Given the description of an element on the screen output the (x, y) to click on. 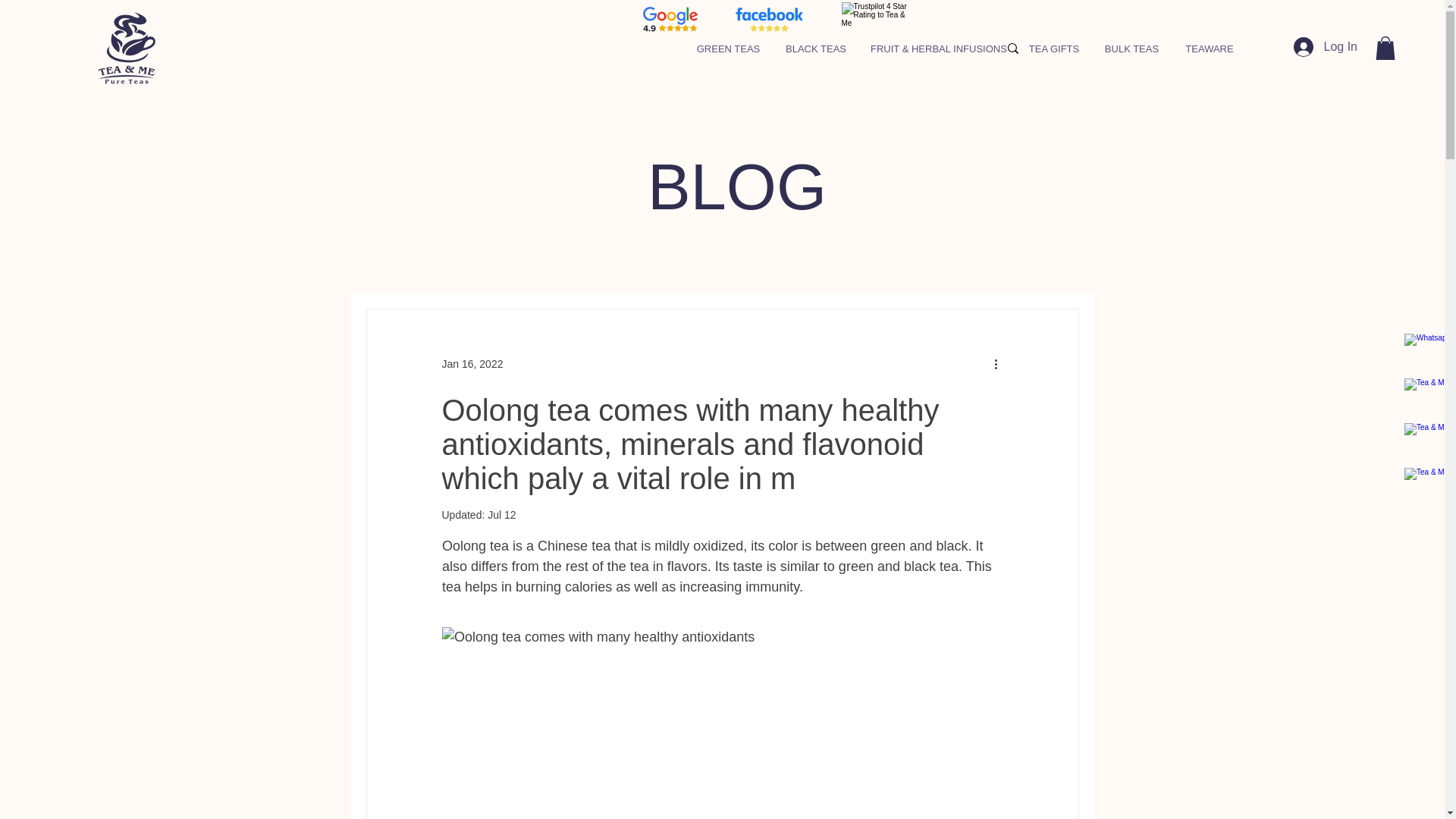
TEAWARE (1209, 48)
GREEN TEAS (728, 48)
black (952, 545)
BLACK TEAS (816, 48)
Oolong tea (474, 545)
TEA GIFTS (1054, 48)
BULK TEAS (1132, 48)
Chinese tea (573, 545)
green (887, 545)
Jul 12 (501, 514)
